Given the description of an element on the screen output the (x, y) to click on. 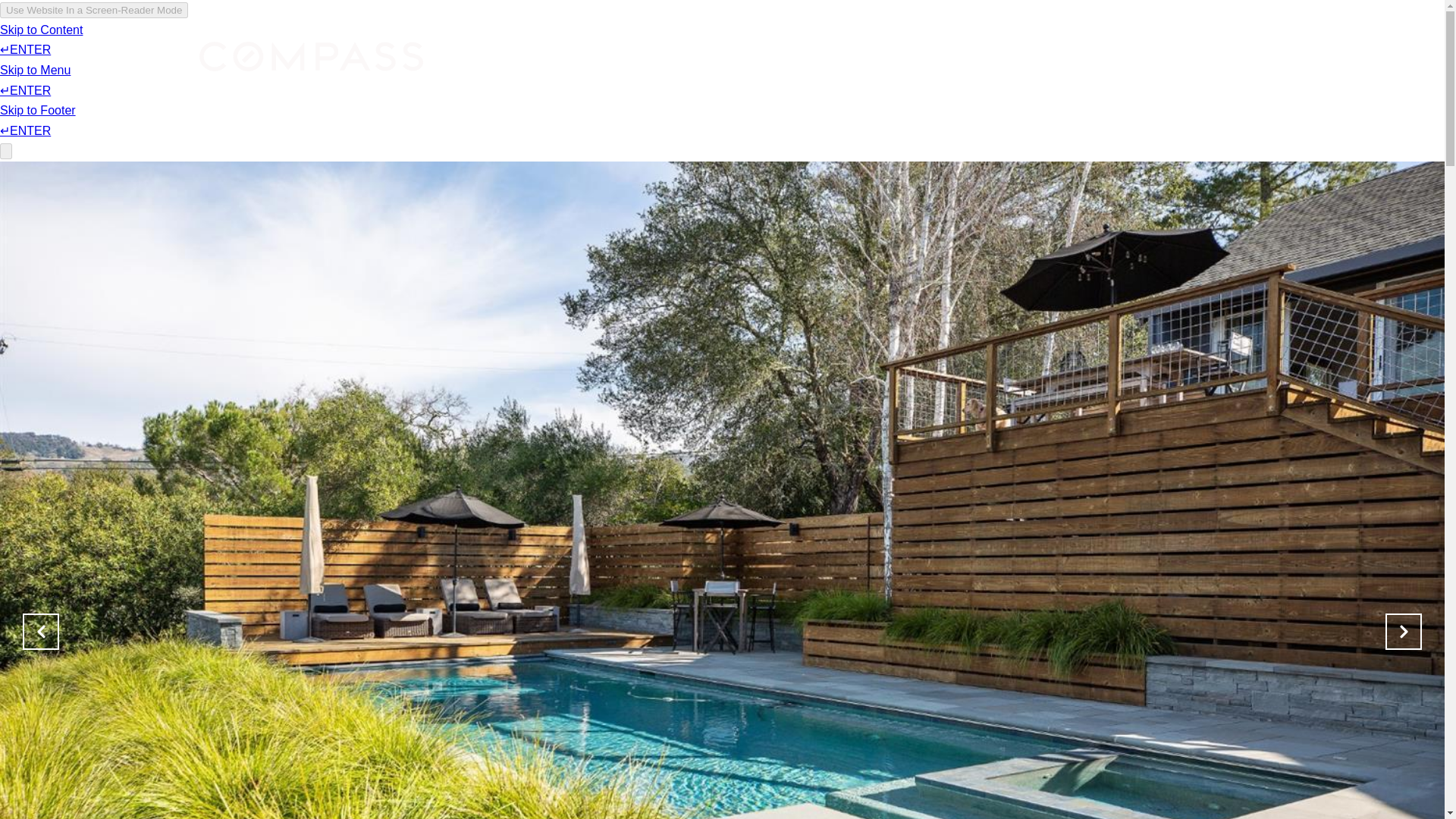
HOME SEARCH (769, 55)
CONTACT US (1157, 55)
PROPERTIES (668, 55)
